Given the description of an element on the screen output the (x, y) to click on. 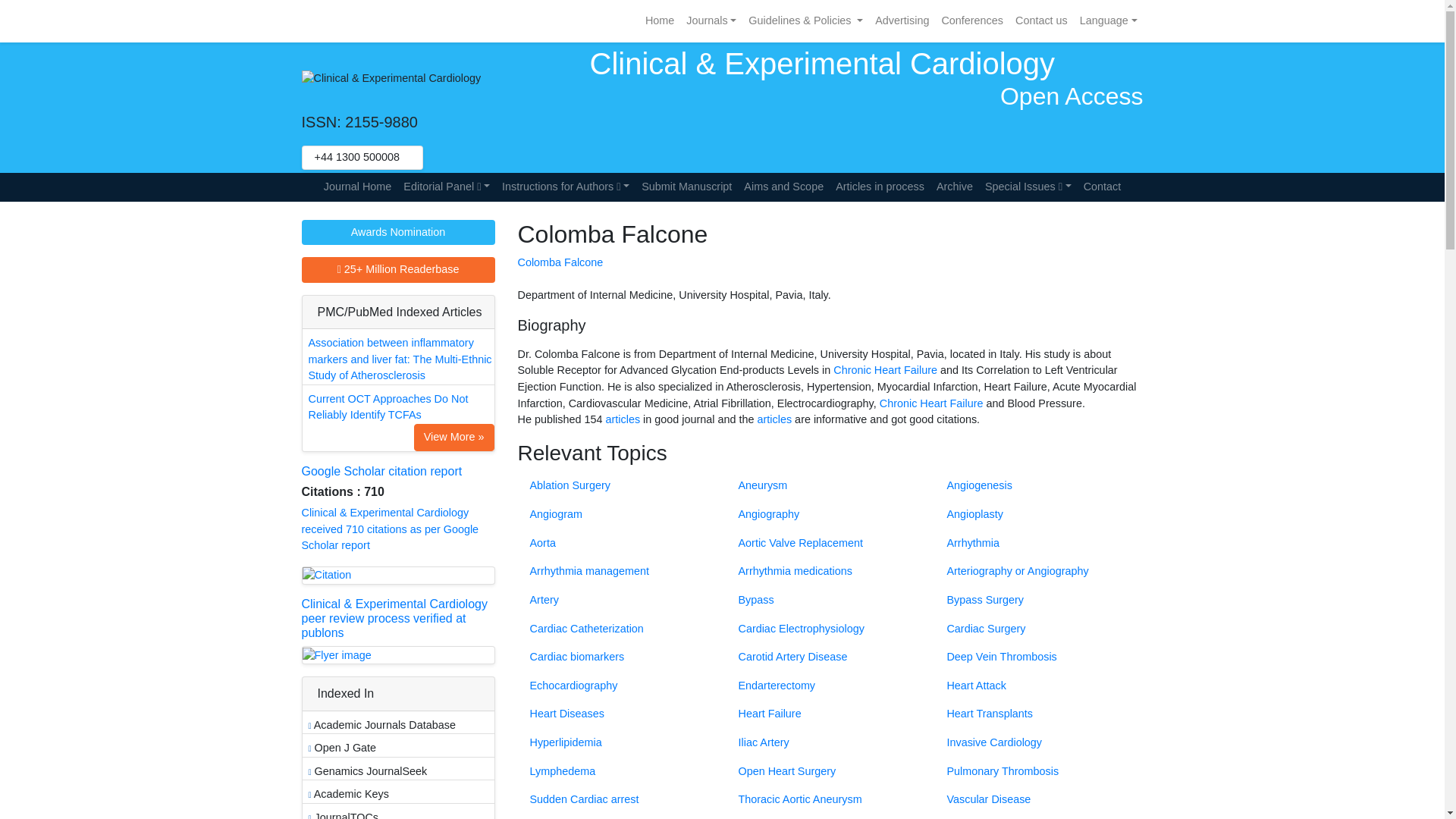
Submit Manuscript (686, 186)
Archive (954, 186)
Contact us (1041, 21)
Instructions for Authors (565, 186)
Advertising (901, 21)
Aims and Scope (783, 186)
Journal Home (357, 186)
Journals (710, 21)
Conferences (971, 21)
Contact us (1041, 21)
